Given the description of an element on the screen output the (x, y) to click on. 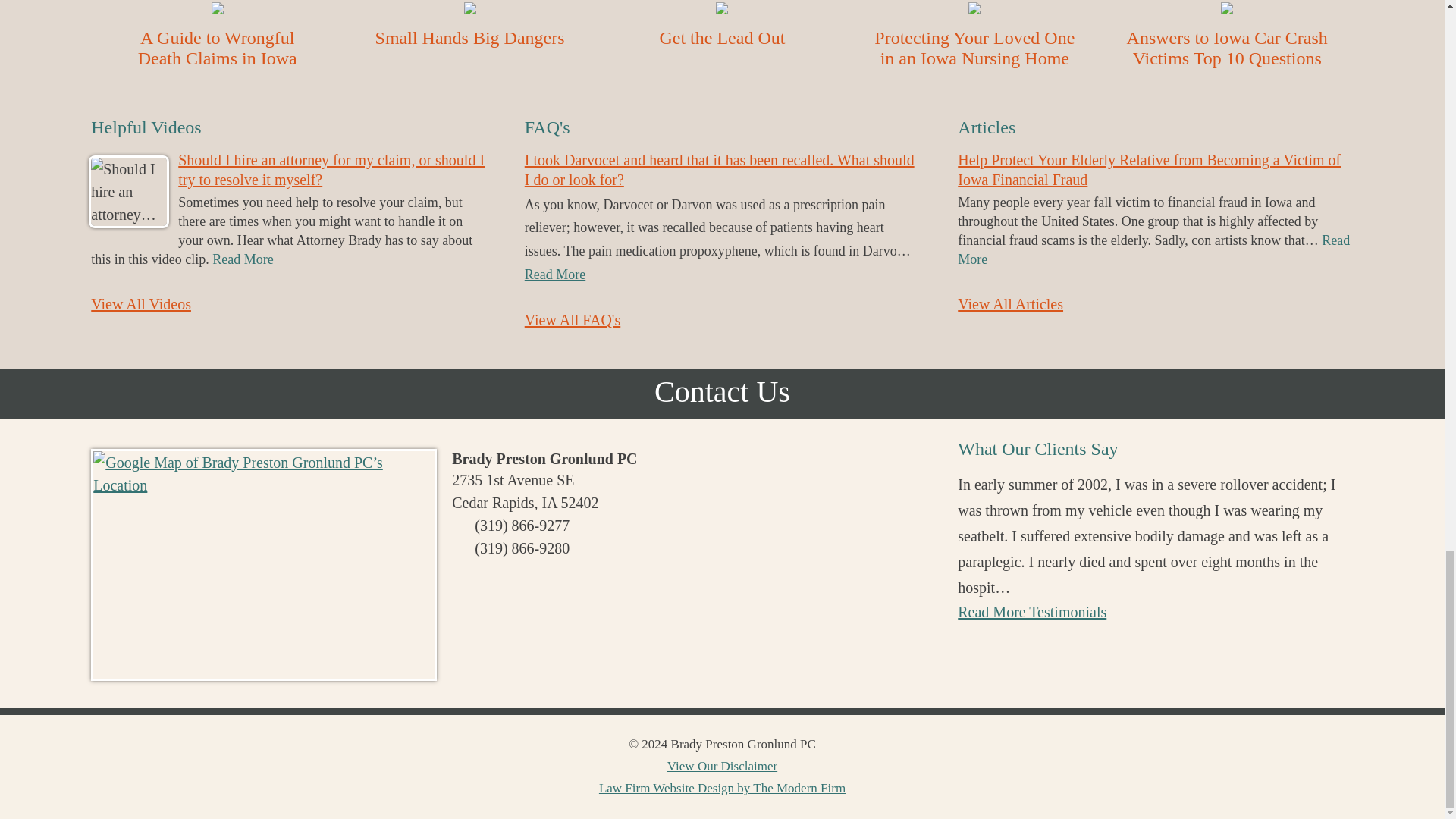
Download eBook (1226, 47)
Get the Lead Out (721, 37)
A Guide to Wrongful Death Claims in Iowa (217, 47)
Download eBook (217, 47)
Download eBook (974, 47)
Small Hands Big Dangers (469, 37)
Download eBook (721, 37)
Download eBook (469, 37)
